Given the description of an element on the screen output the (x, y) to click on. 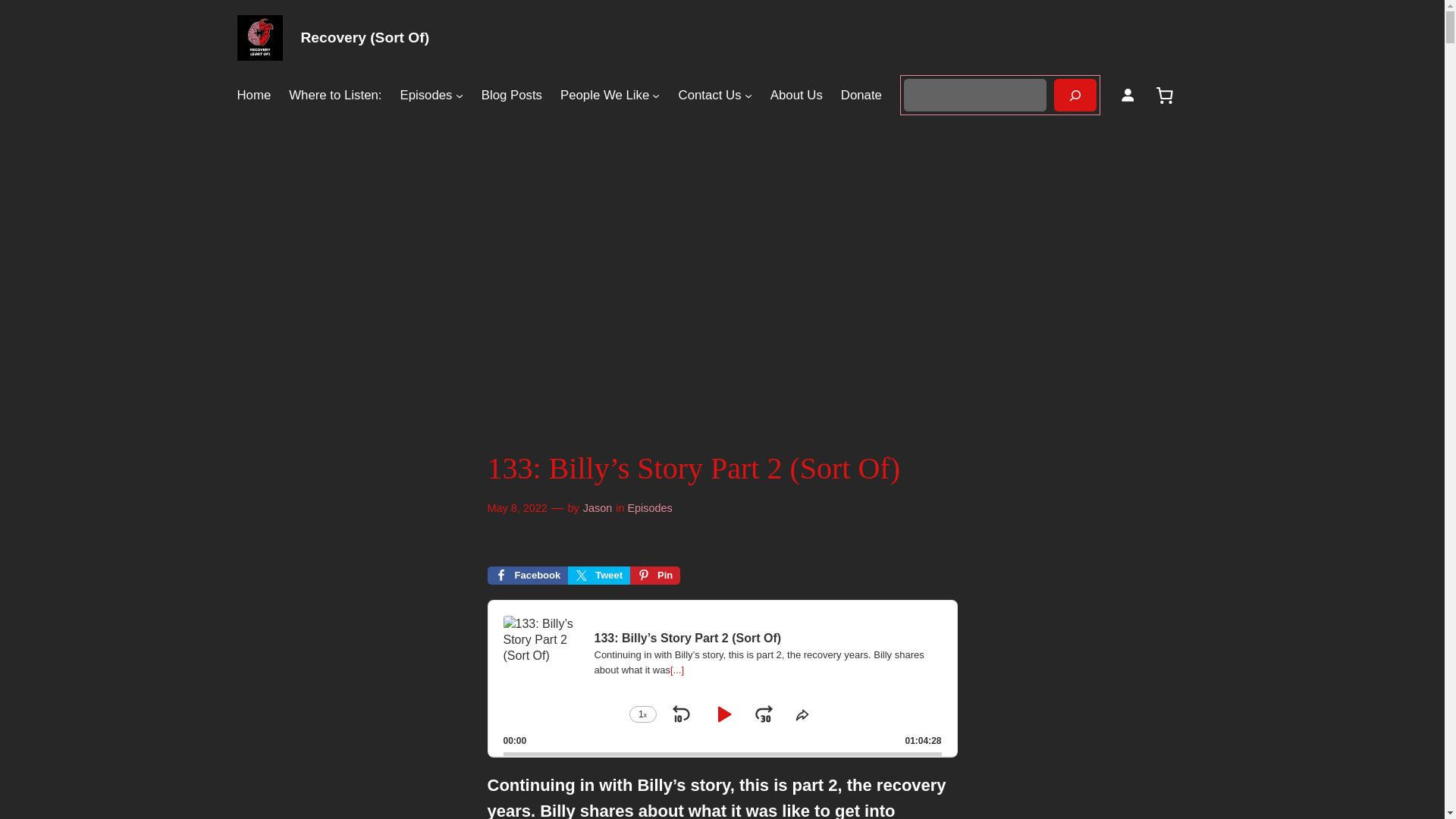
Share on Pinterest (654, 575)
People We Like (604, 95)
Tweet (598, 575)
Share on Twitter (598, 575)
Where to Listen: (334, 95)
Pin (654, 575)
Share on Facebook (526, 575)
Donate (861, 95)
May 8, 2022 (516, 508)
Episodes (424, 95)
Jason (597, 508)
Facebook (526, 575)
Home (252, 95)
